Given the description of an element on the screen output the (x, y) to click on. 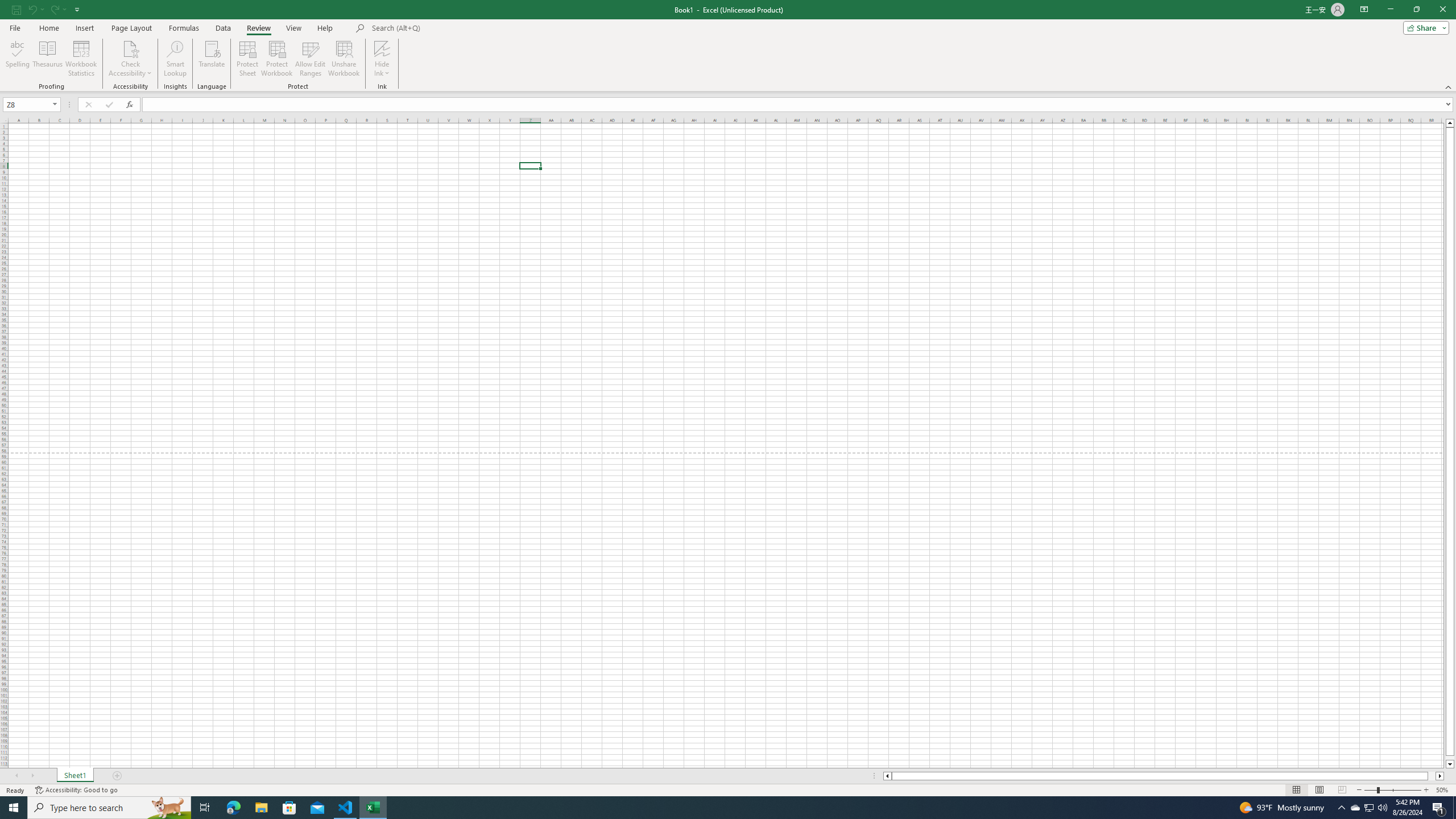
Thesaurus... (47, 58)
Workbook Statistics (81, 58)
